Given the description of an element on the screen output the (x, y) to click on. 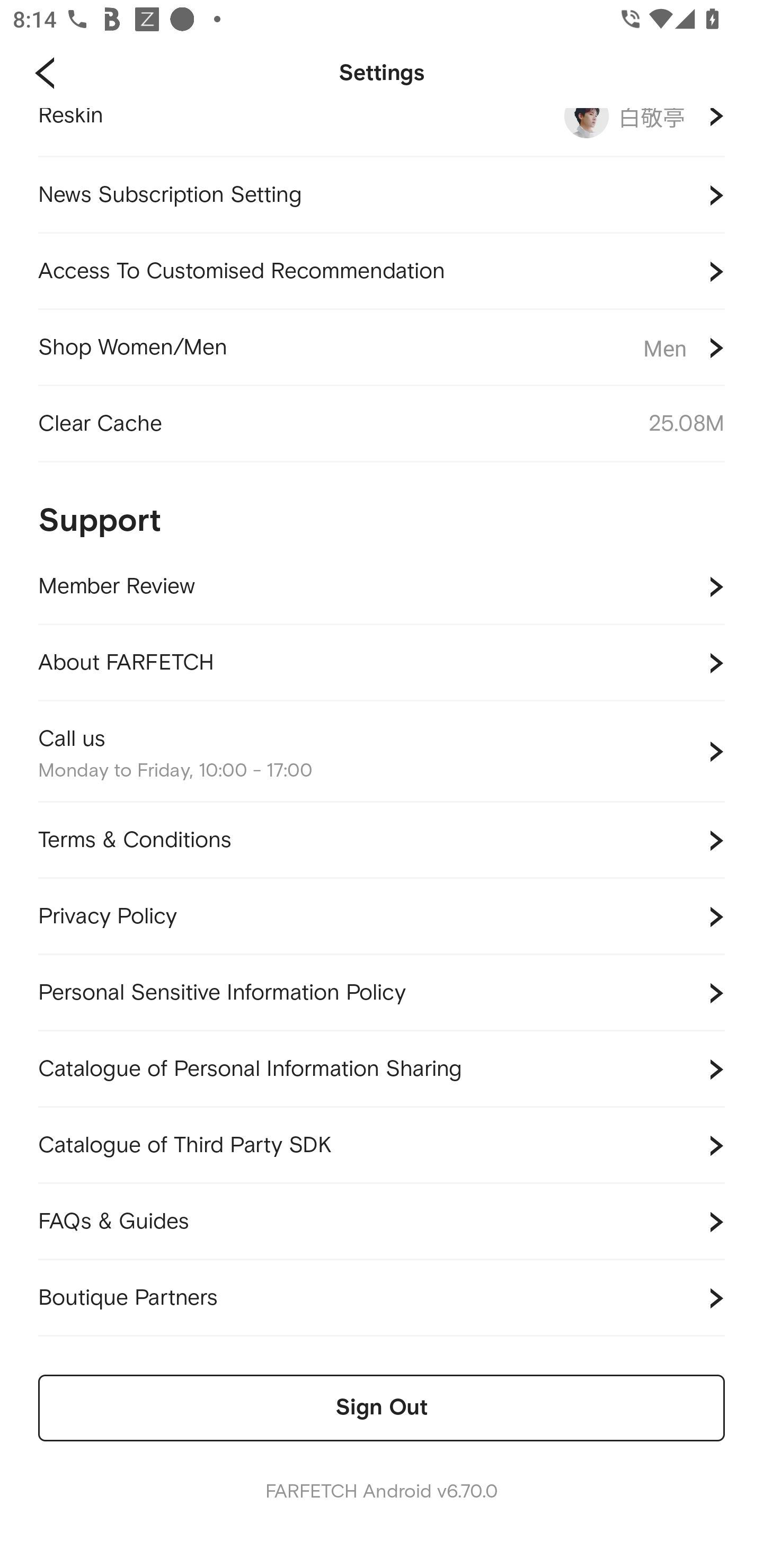
Reskin 白敬亭 (381, 132)
News Subscription Setting (381, 194)
Access To Customised Recommendation (381, 271)
Shop Women/Men Men (381, 347)
Clear Cache 25.08M (381, 423)
Member Review (381, 586)
About FARFETCH (381, 662)
Call us Monday to Friday, 10:00 - 17:00 (381, 751)
Terms & Conditions (381, 840)
Privacy Policy (381, 916)
Personal Sensitive Information Policy (381, 992)
Catalogue of Personal Information Sharing (381, 1069)
Catalogue of Third Party SDK (381, 1145)
FAQs & Guides (381, 1221)
Boutique Partners (381, 1297)
Sign Out (381, 1407)
